Given the description of an element on the screen output the (x, y) to click on. 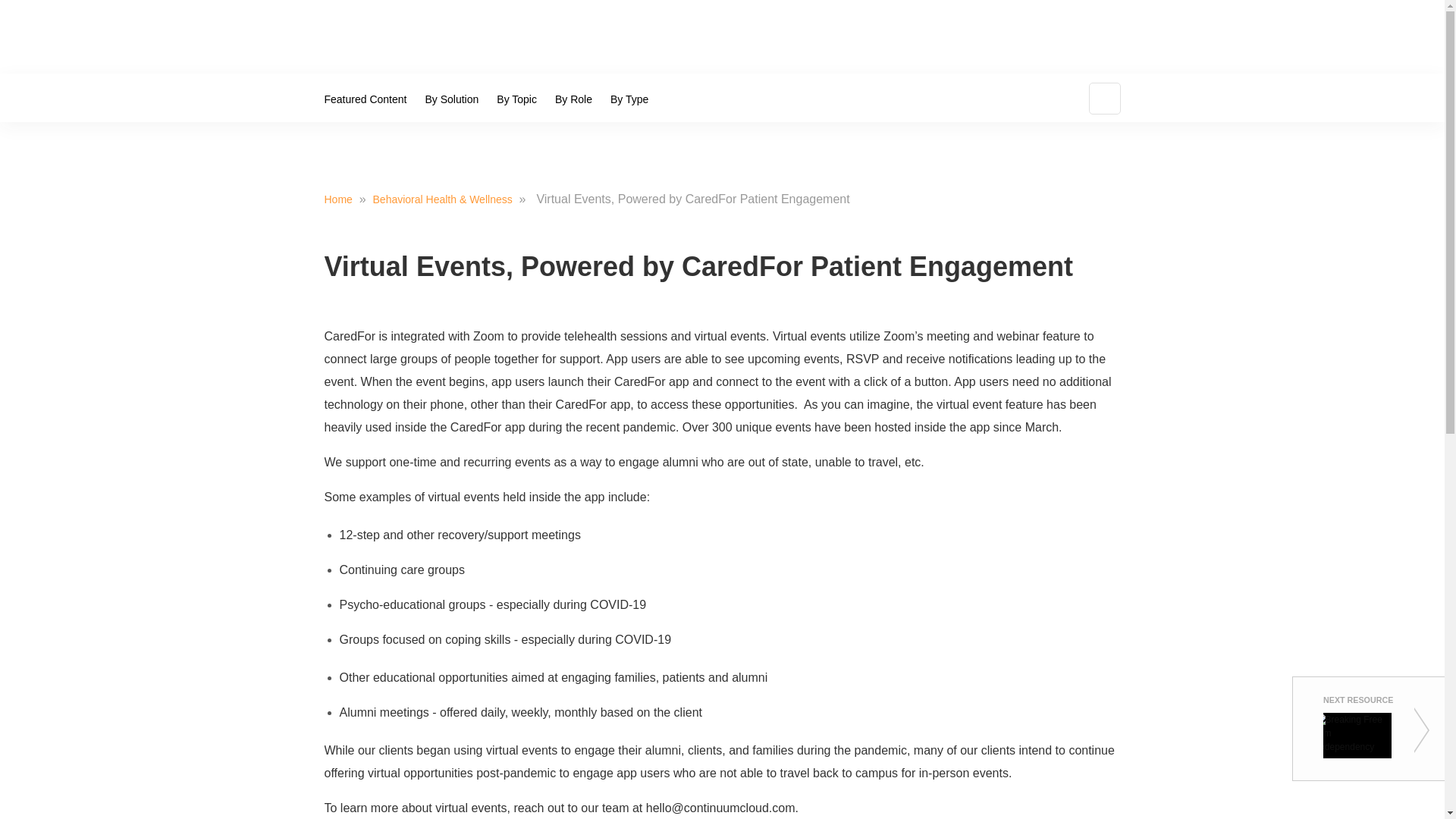
By Solution (451, 99)
Featured Content (369, 99)
By Type (629, 99)
Home (339, 199)
By Topic (516, 99)
By Role (573, 99)
